Given the description of an element on the screen output the (x, y) to click on. 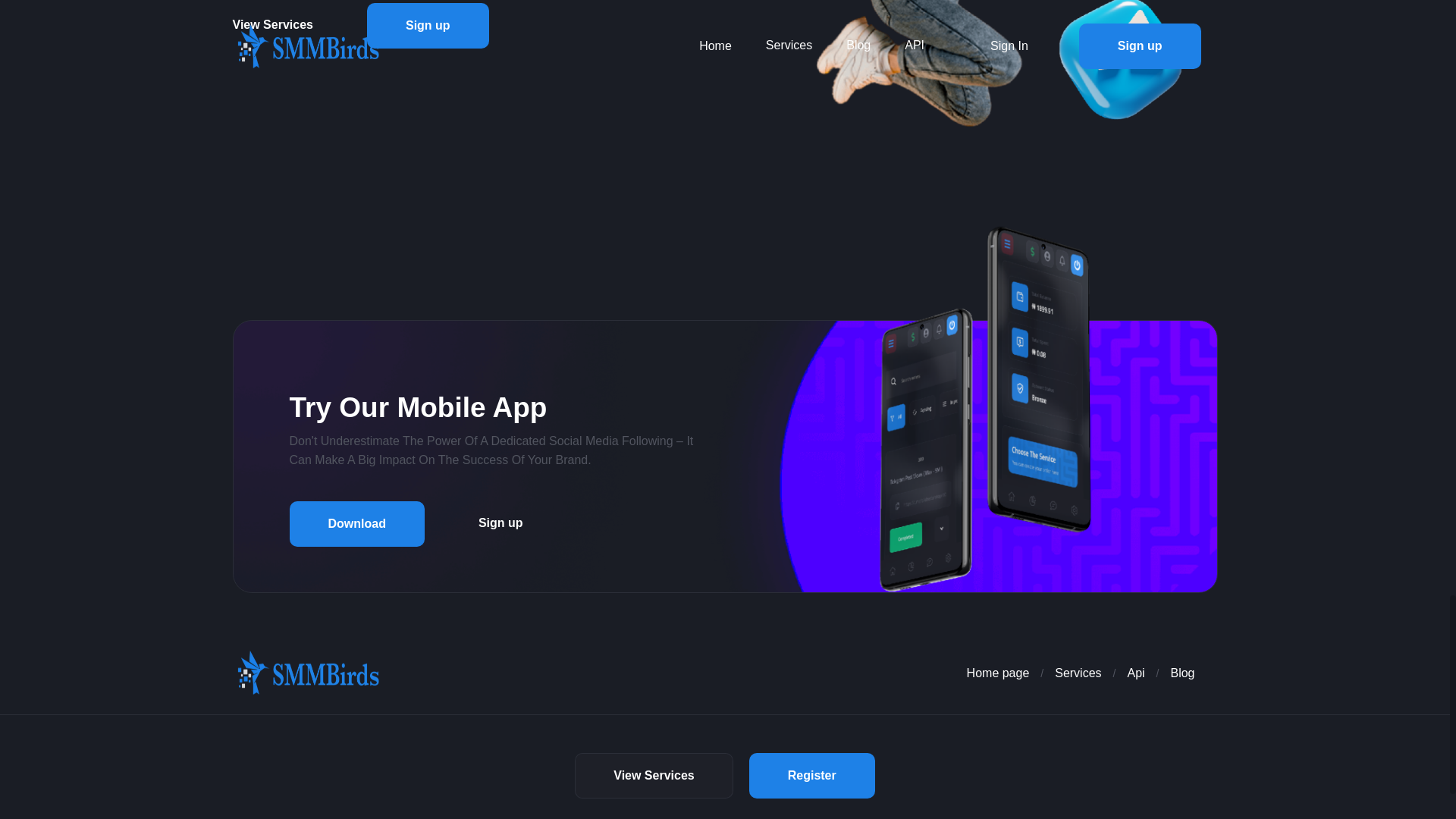
    Home page (991, 672)
Download (357, 524)
Register (812, 775)
SMMBirds (307, 672)
Sign up (500, 523)
Blog (1181, 672)
Services (1077, 672)
View Services (290, 24)
Api (1135, 672)
Sign up (427, 25)
View Services (653, 775)
